Given the description of an element on the screen output the (x, y) to click on. 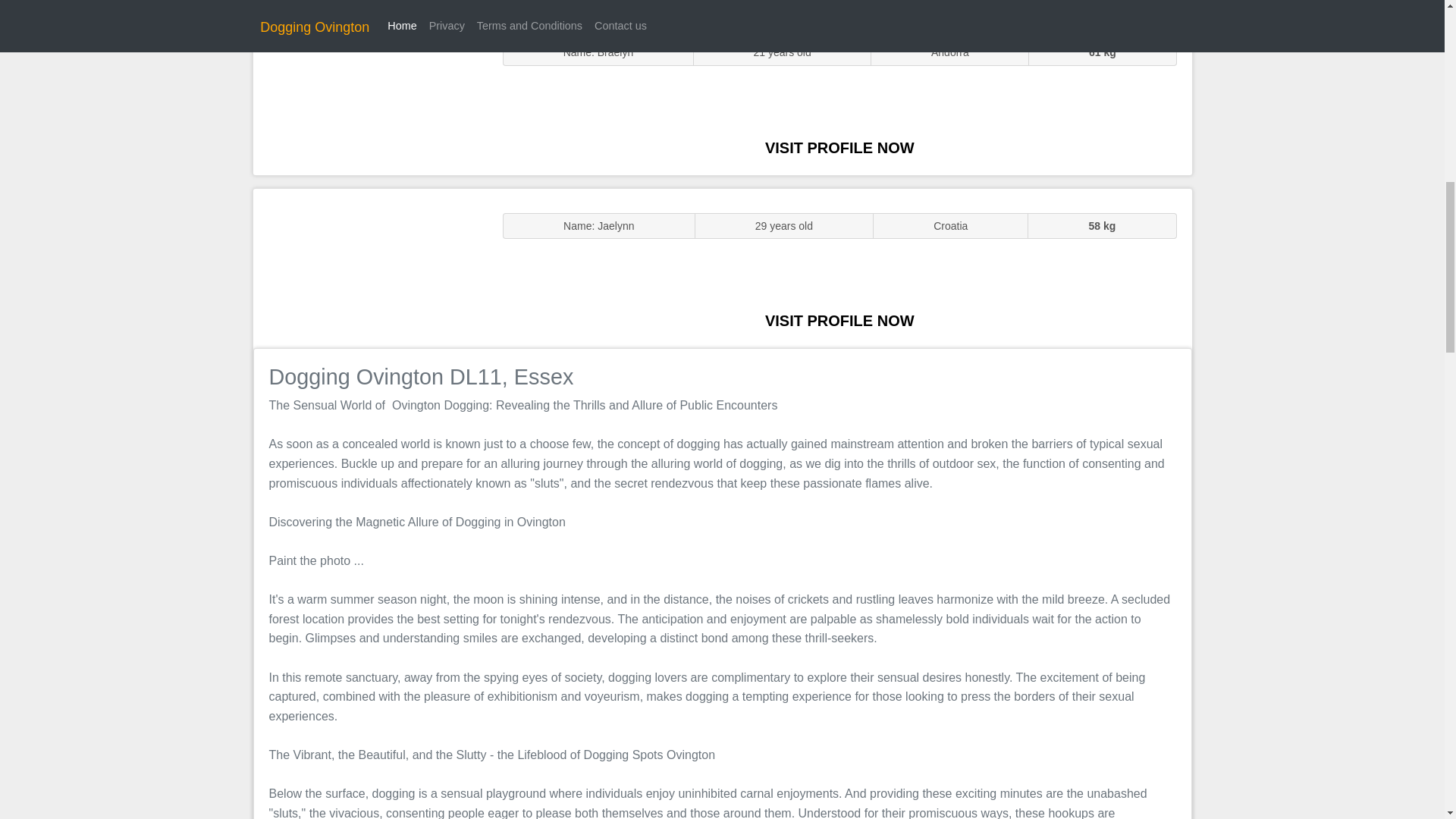
Sluts (370, 94)
Massage (370, 267)
VISIT PROFILE NOW (839, 147)
VISIT PROFILE NOW (839, 320)
